Given the description of an element on the screen output the (x, y) to click on. 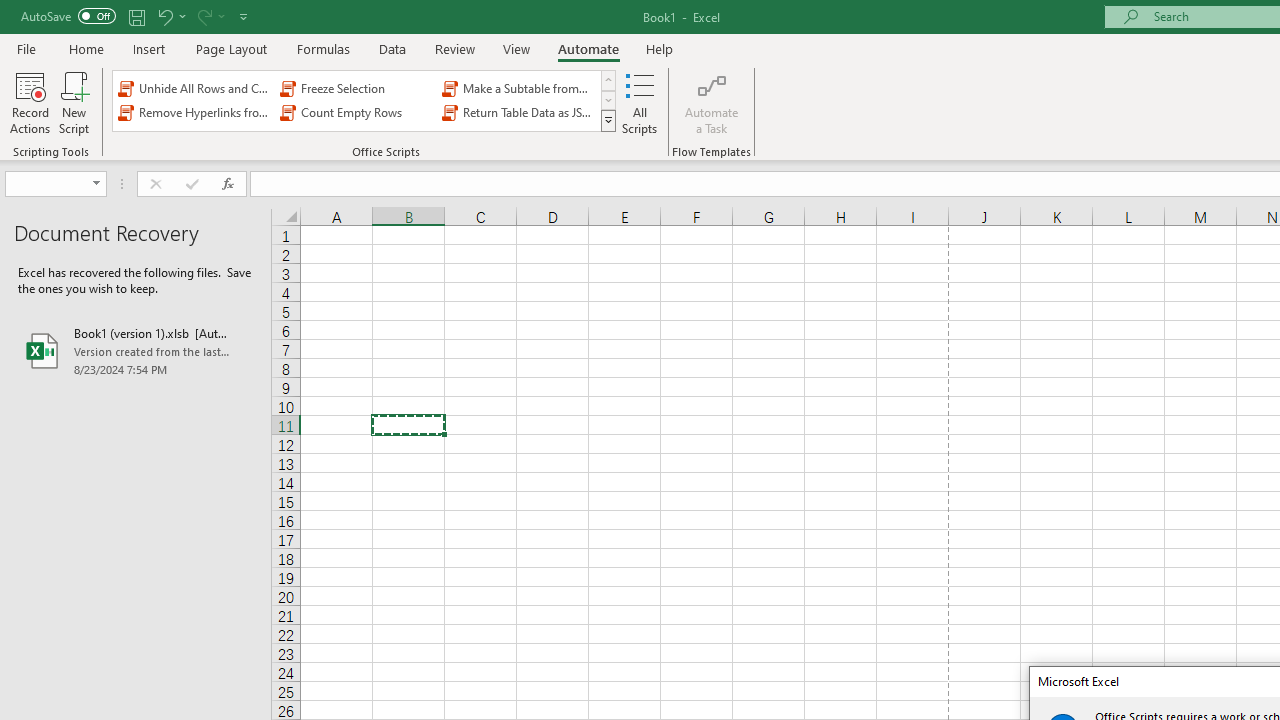
Return Table Data as JSON (518, 112)
Automate a Task (712, 102)
Count Empty Rows (356, 112)
Make a Subtable from a Selection (518, 88)
